Given the description of an element on the screen output the (x, y) to click on. 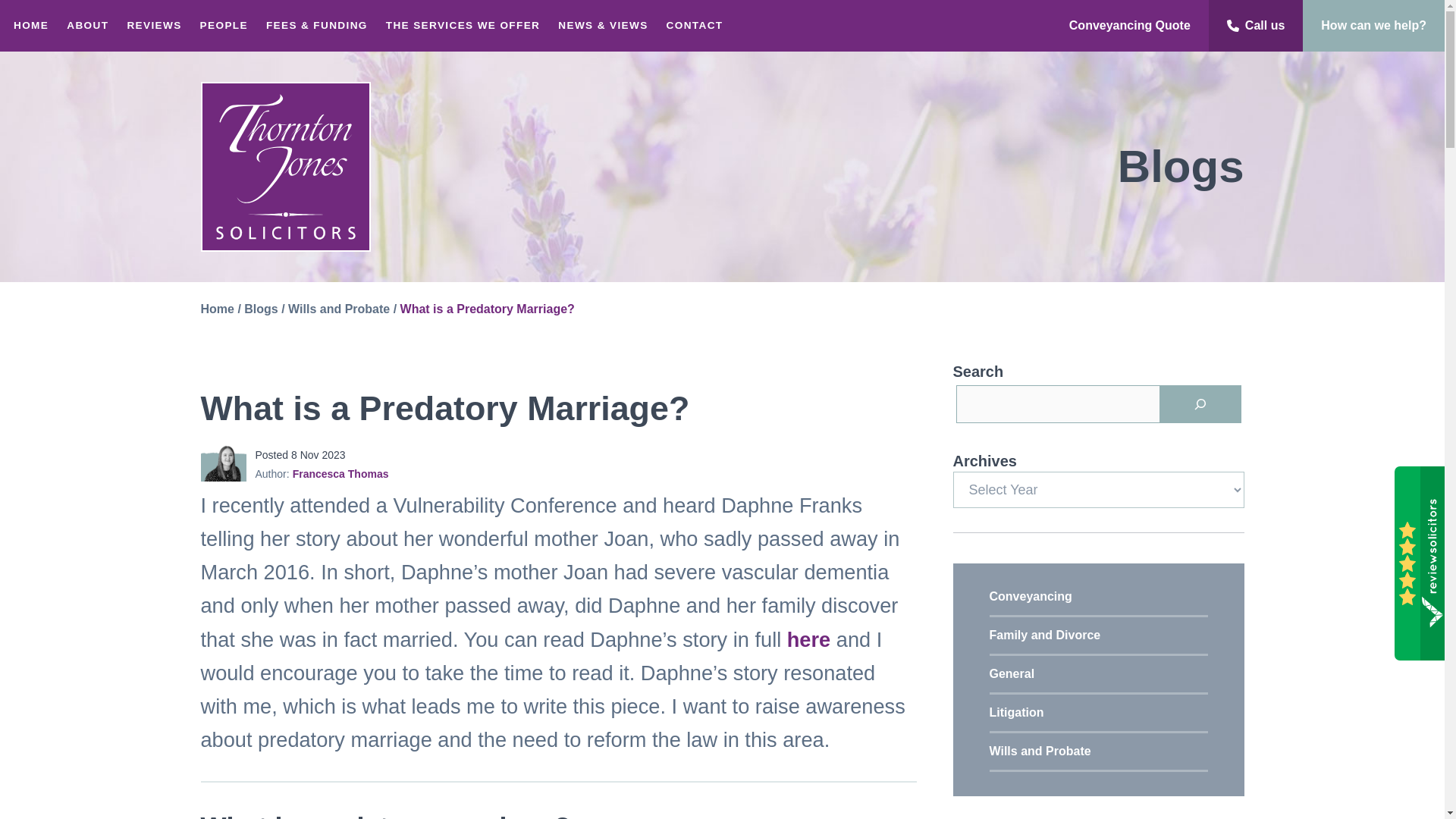
REVIEWS (153, 25)
PEOPLE (223, 25)
HOME (31, 25)
THE SERVICES WE OFFER (463, 25)
ABOUT (87, 25)
